Given the description of an element on the screen output the (x, y) to click on. 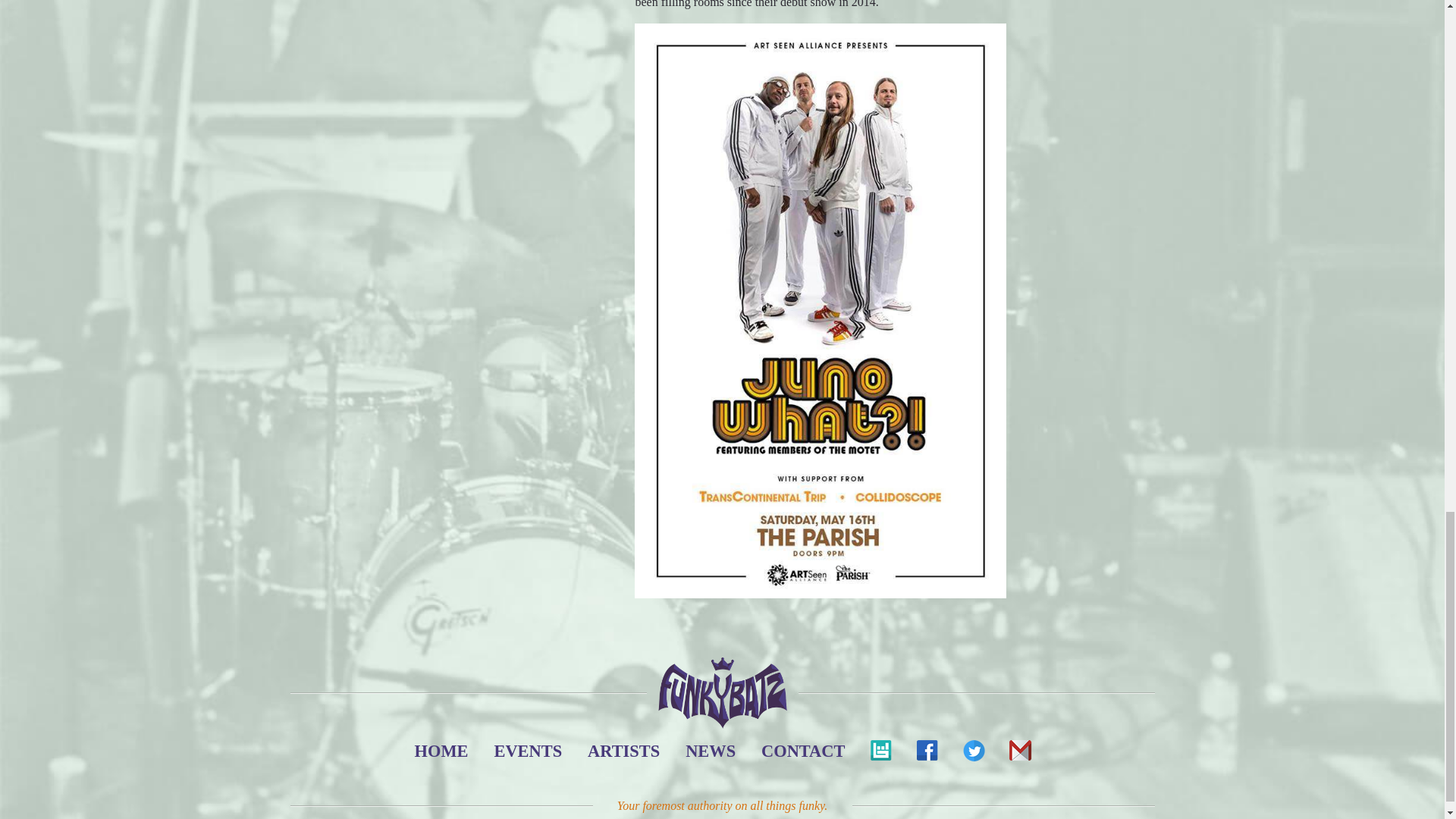
EMAIL US (1019, 754)
HOME (441, 751)
EVENTS (527, 751)
FACEBOOK (926, 754)
ARTISTS (623, 751)
TWITTER (972, 754)
BANDSINTOWN (880, 754)
NEWS (710, 751)
CONTACT (803, 751)
